Given the description of an element on the screen output the (x, y) to click on. 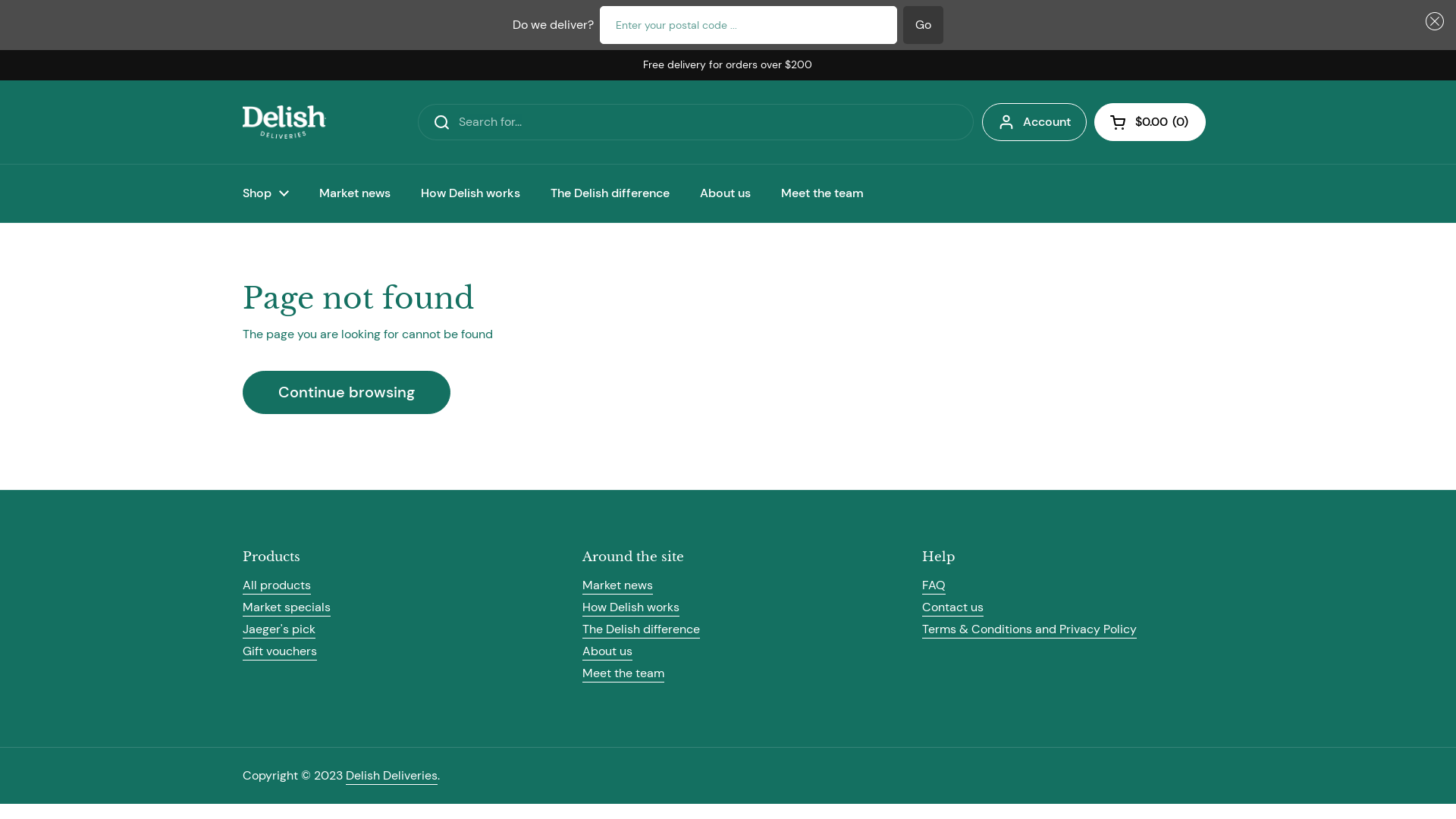
The Delish difference Element type: text (640, 629)
Market news Element type: text (354, 192)
Account Element type: text (1034, 122)
Delish Deliveries Element type: text (391, 775)
Open cart
$0.00
0 Element type: text (1149, 122)
How Delish works Element type: text (630, 607)
Market news Element type: text (617, 585)
Contact us Element type: text (952, 607)
Market specials Element type: text (286, 607)
Gift vouchers Element type: text (279, 651)
All products Element type: text (276, 585)
Meet the team Element type: text (821, 192)
About us Element type: text (607, 651)
The Delish difference Element type: text (609, 192)
FAQ Element type: text (933, 585)
How Delish works Element type: text (470, 192)
Go Element type: text (923, 24)
Jaeger's pick Element type: text (278, 629)
Terms & Conditions and Privacy Policy Element type: text (1029, 629)
About us Element type: text (724, 192)
Meet the team Element type: text (623, 673)
Delish Deliveries Element type: hover (284, 121)
Shop Element type: text (265, 192)
Continue browsing Element type: text (346, 392)
